Given the description of an element on the screen output the (x, y) to click on. 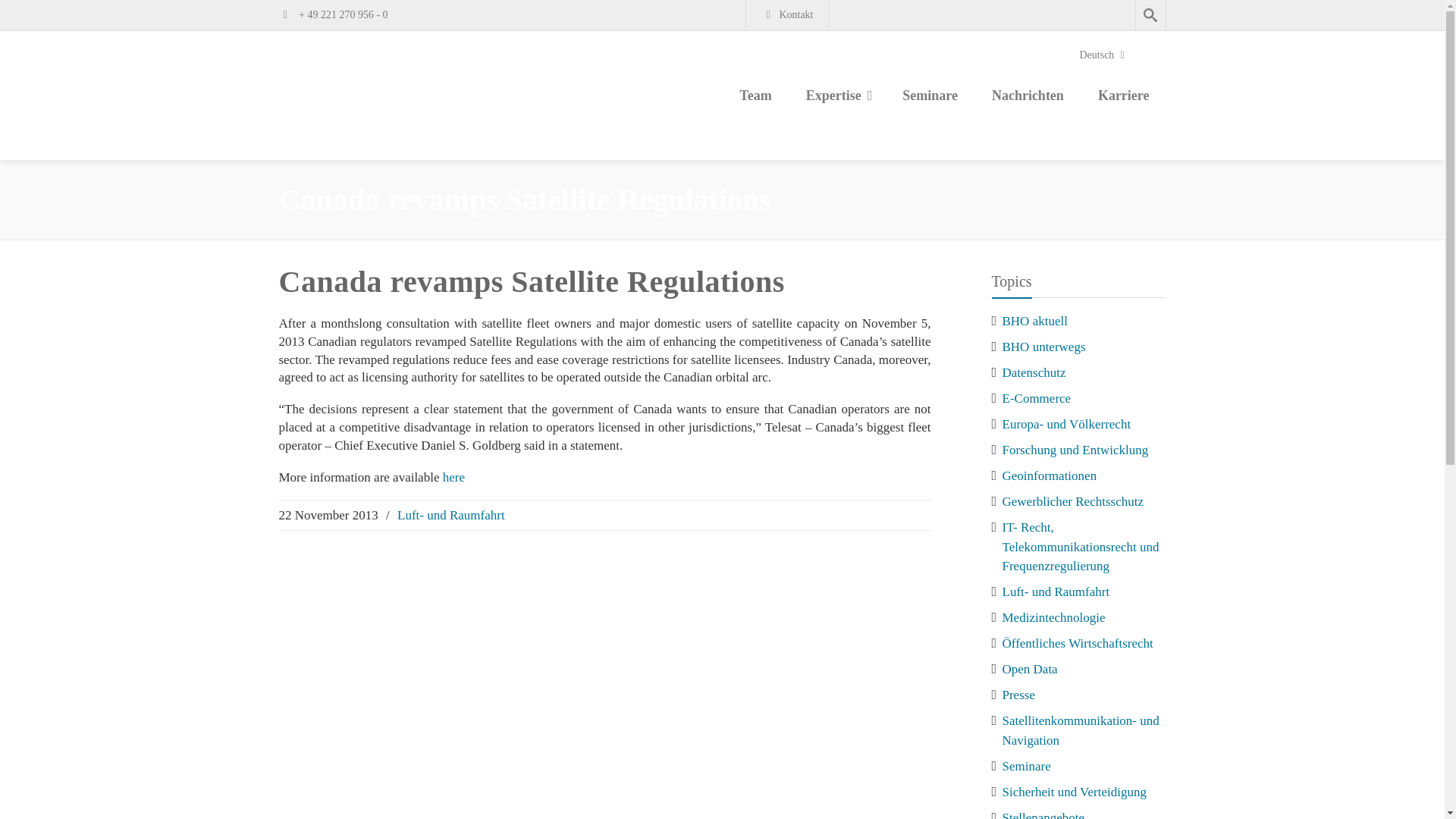
Luft- und Raumfahrt (451, 514)
Kontakt (786, 15)
Deutsch (981, 15)
Geoinformationen (1050, 475)
BHO aktuell (1035, 320)
Forschung und Entwicklung (1075, 450)
Seminare (929, 96)
Nachrichten (1027, 96)
Expertise (837, 96)
BHO unterwegs (1044, 346)
here (453, 477)
Gewerblicher Rechtsschutz (1072, 501)
Karriere (1123, 96)
Datenschutz (1034, 372)
IT- Recht, Telekommunikationsrecht und Frequenzregulierung (1080, 546)
